Given the description of an element on the screen output the (x, y) to click on. 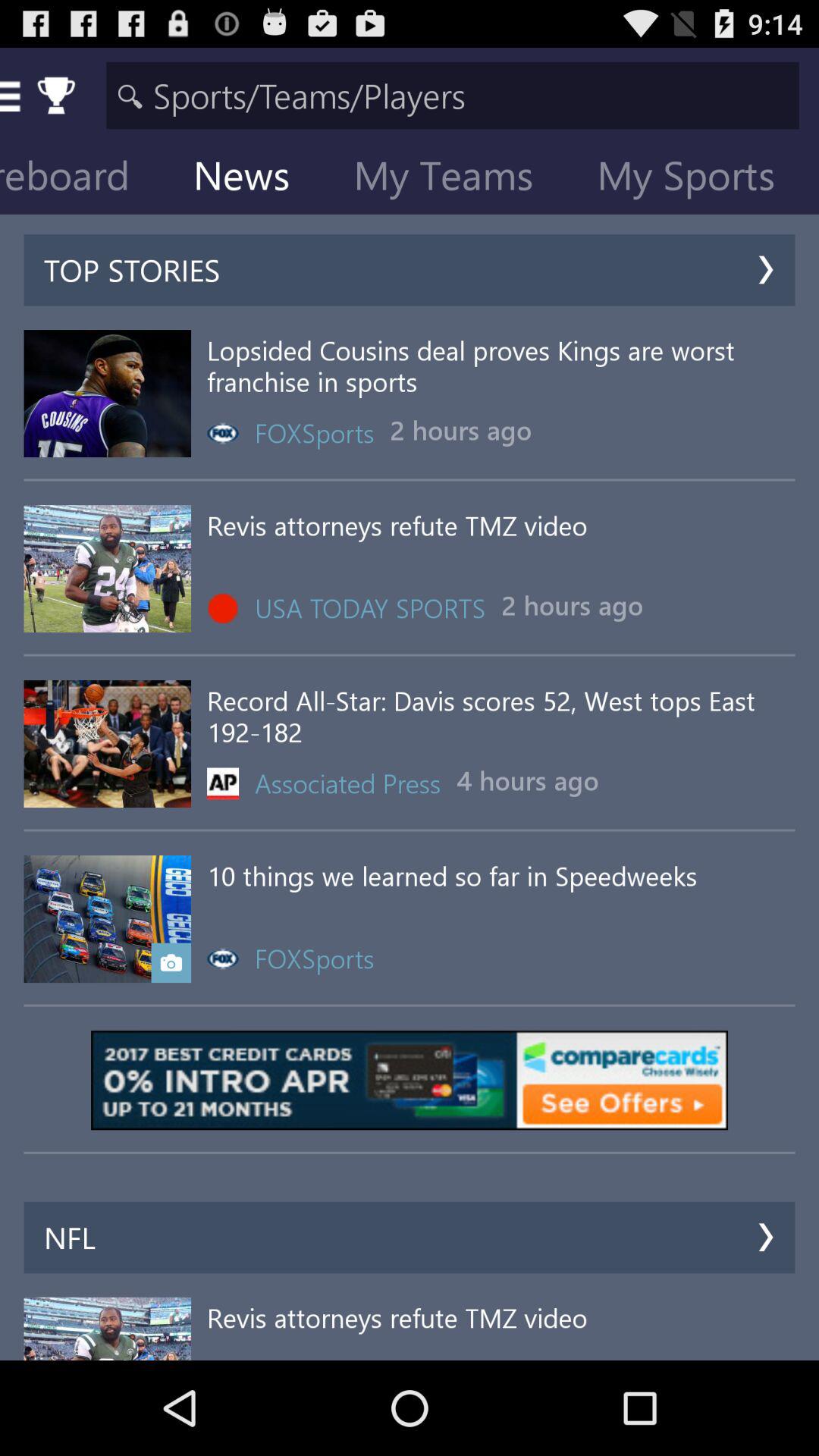
tap item next to my teams (253, 178)
